Given the description of an element on the screen output the (x, y) to click on. 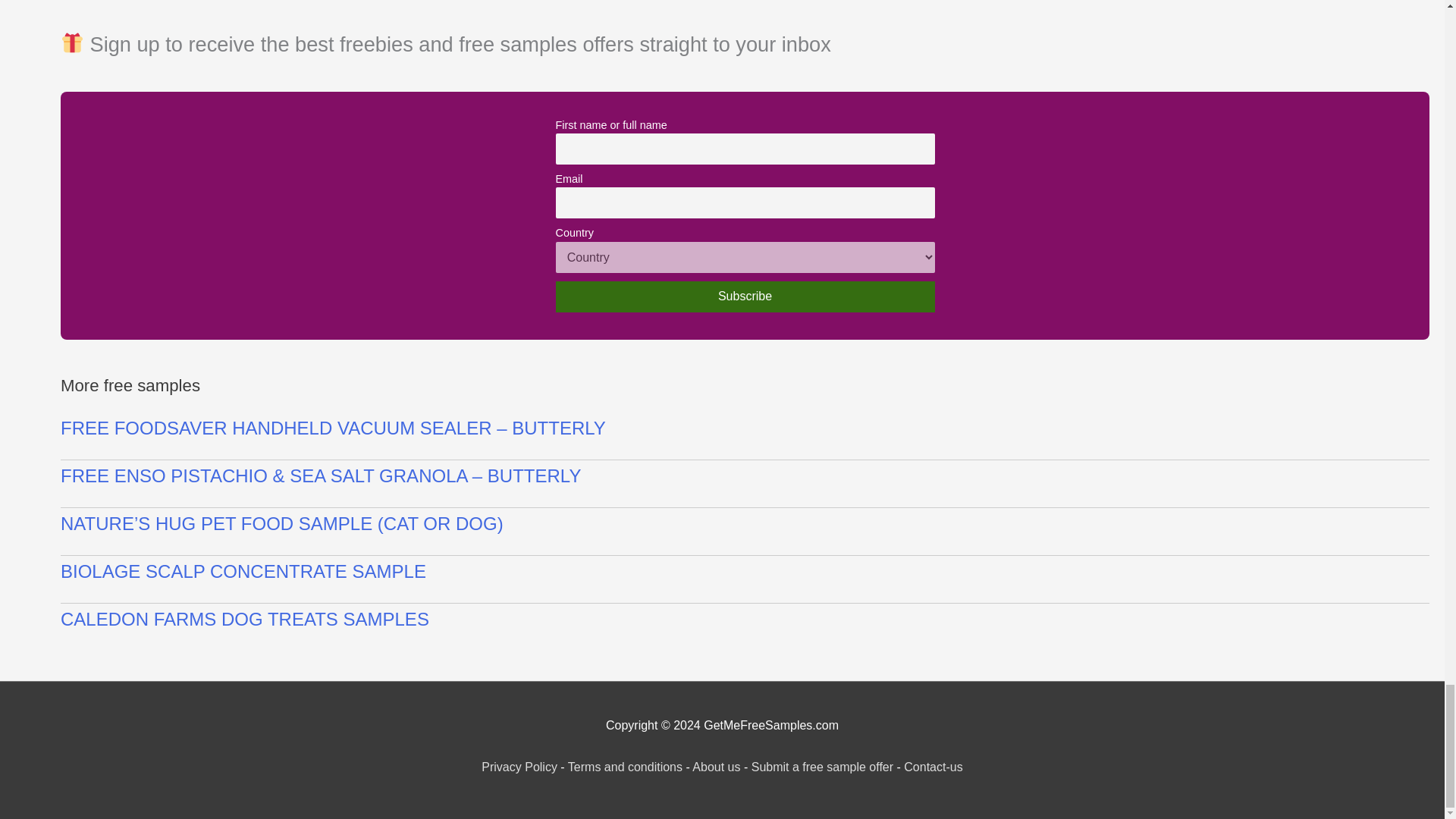
Caledon Farms Dog Treats Samples (745, 619)
Biolage Scalp Concentrate Sample (745, 571)
Subscribe (744, 296)
